Given the description of an element on the screen output the (x, y) to click on. 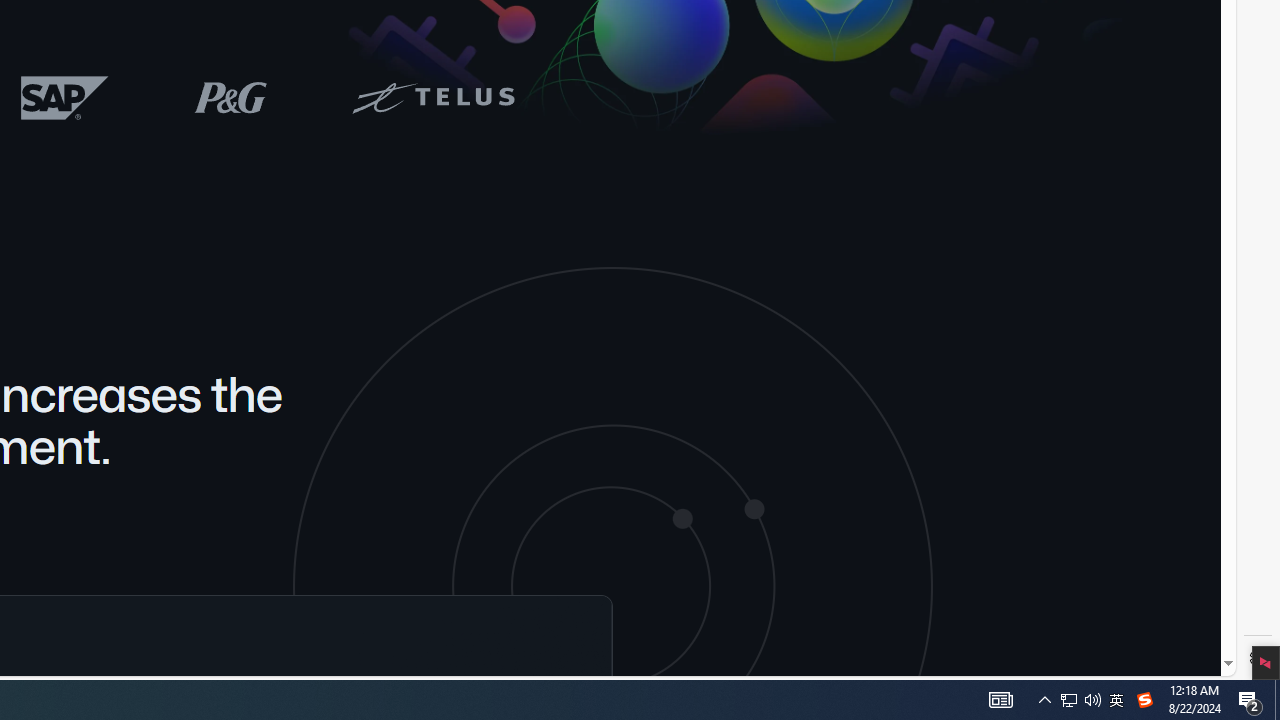
SAP logo (65, 97)
Telus logo (432, 96)
P&G logo (230, 96)
